Given the description of an element on the screen output the (x, y) to click on. 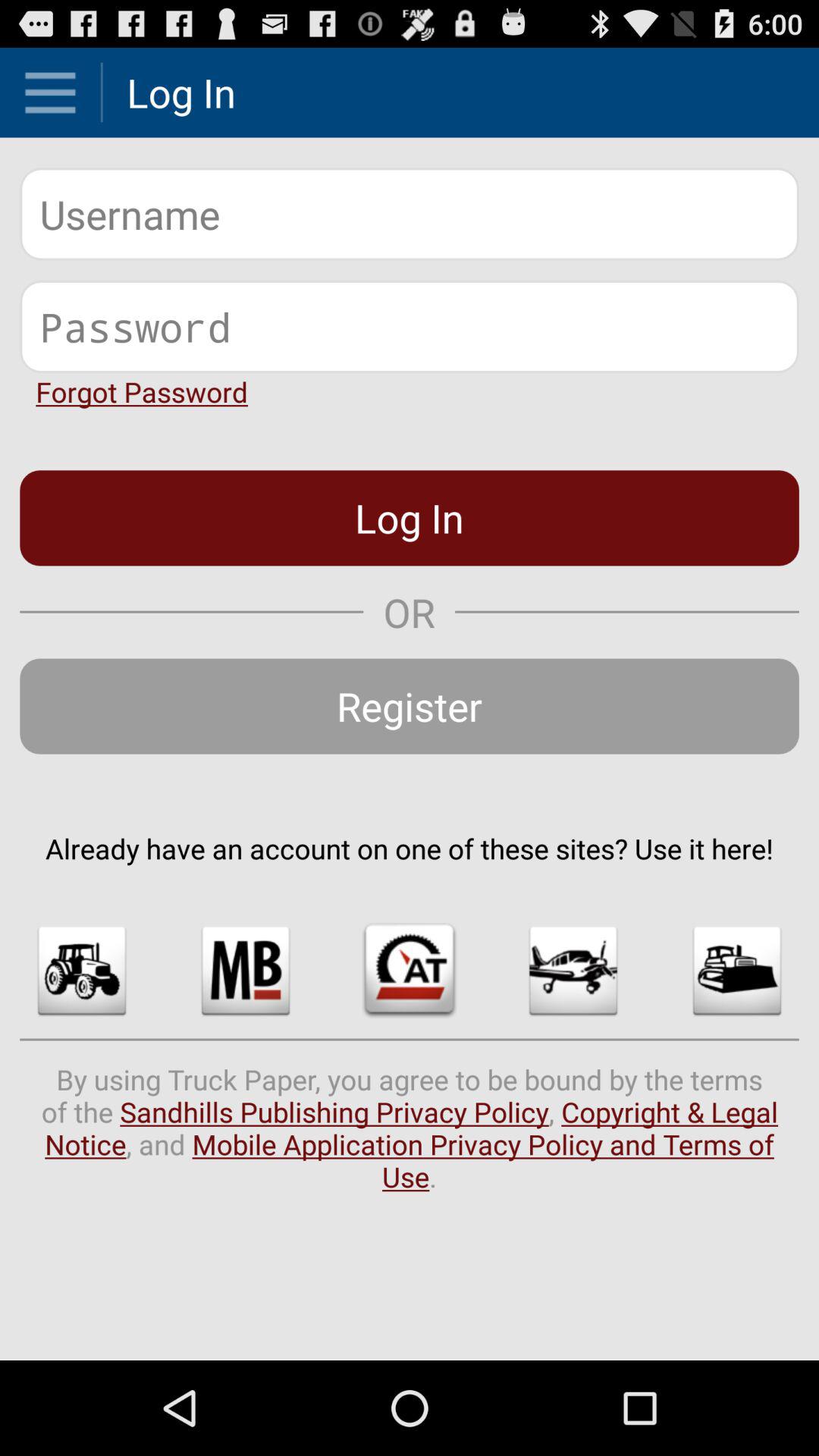
turn off app below or (409, 706)
